Given the description of an element on the screen output the (x, y) to click on. 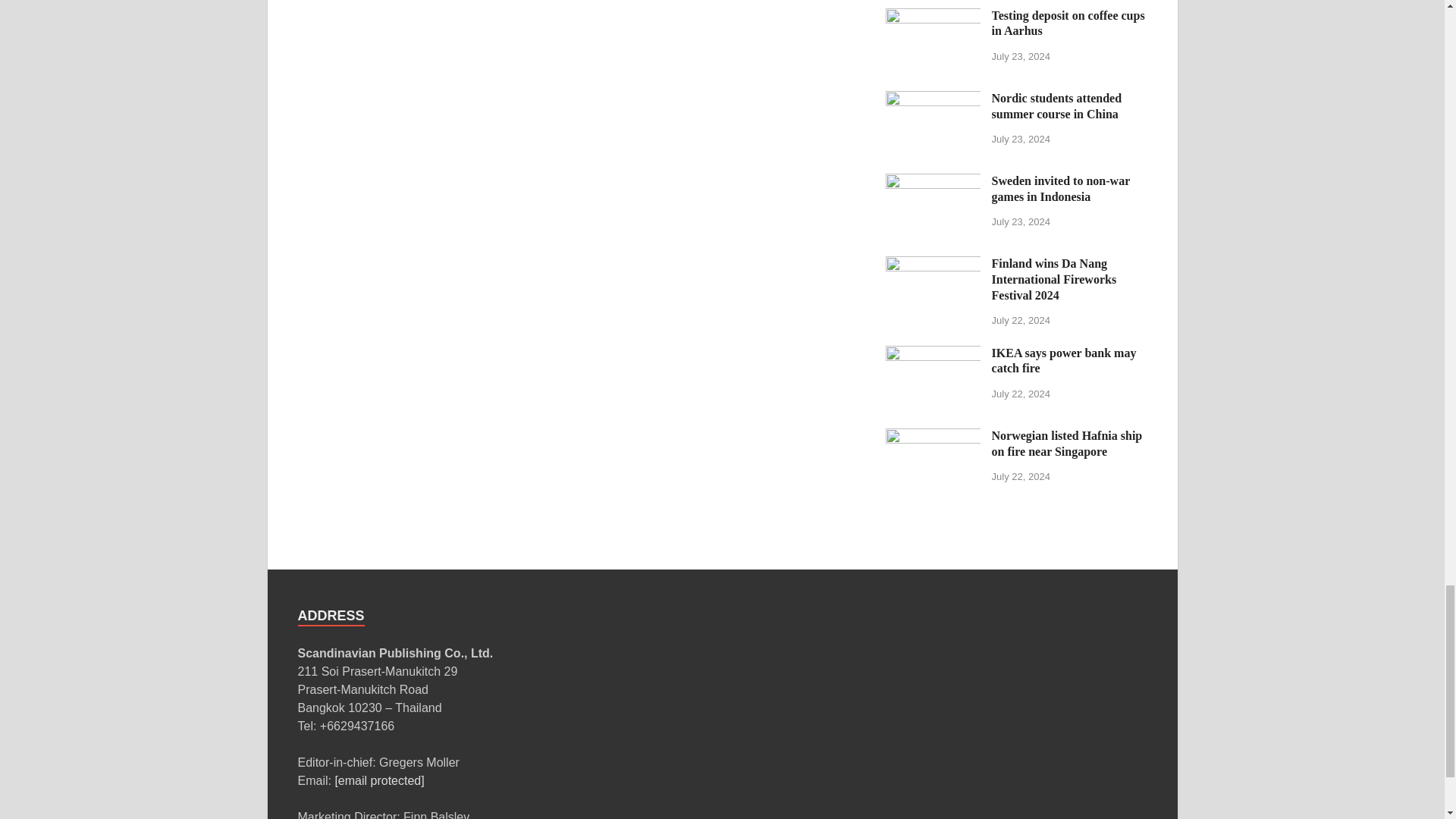
Nordic students attended summer course in China (932, 99)
Testing deposit on coffee cups in Aarhus (932, 16)
Sweden invited to non-war games in Indonesia (932, 182)
